Given the description of an element on the screen output the (x, y) to click on. 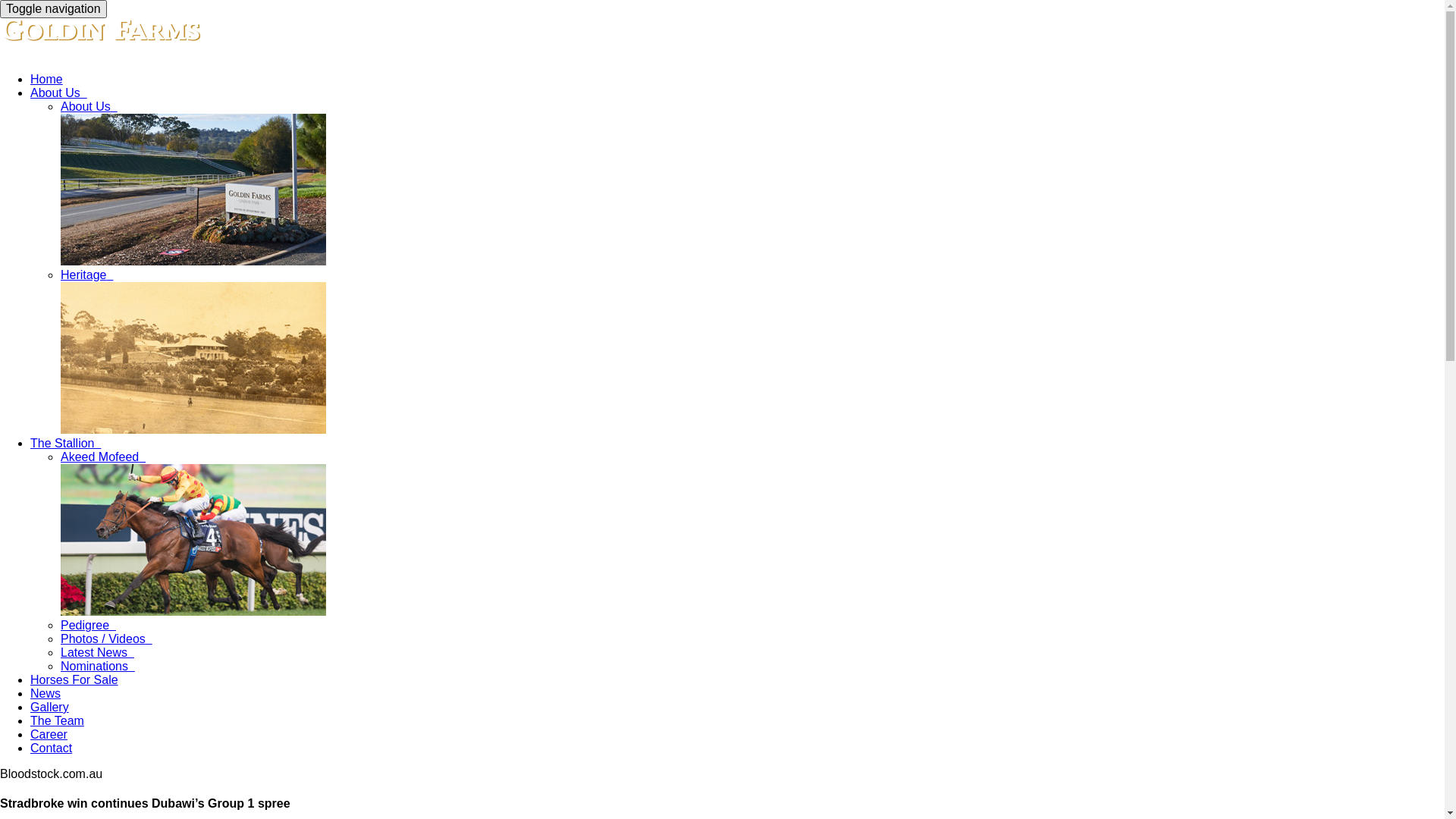
Akeed Mofeed   Element type: text (102, 456)
Gallery Element type: text (49, 706)
Nominations   Element type: text (97, 665)
The Team Element type: text (57, 720)
Contact Element type: text (51, 747)
Career Element type: text (48, 734)
The Stallion   Element type: text (65, 442)
Pedigree   Element type: text (88, 624)
Horses For Sale Element type: text (74, 679)
About Us   Element type: text (88, 106)
Photos / Videos   Element type: text (106, 638)
About Us   Element type: text (58, 92)
Latest News   Element type: text (97, 652)
News Element type: text (45, 693)
Heritage   Element type: text (86, 274)
Toggle navigation Element type: text (53, 9)
Home Element type: text (46, 78)
